Given the description of an element on the screen output the (x, y) to click on. 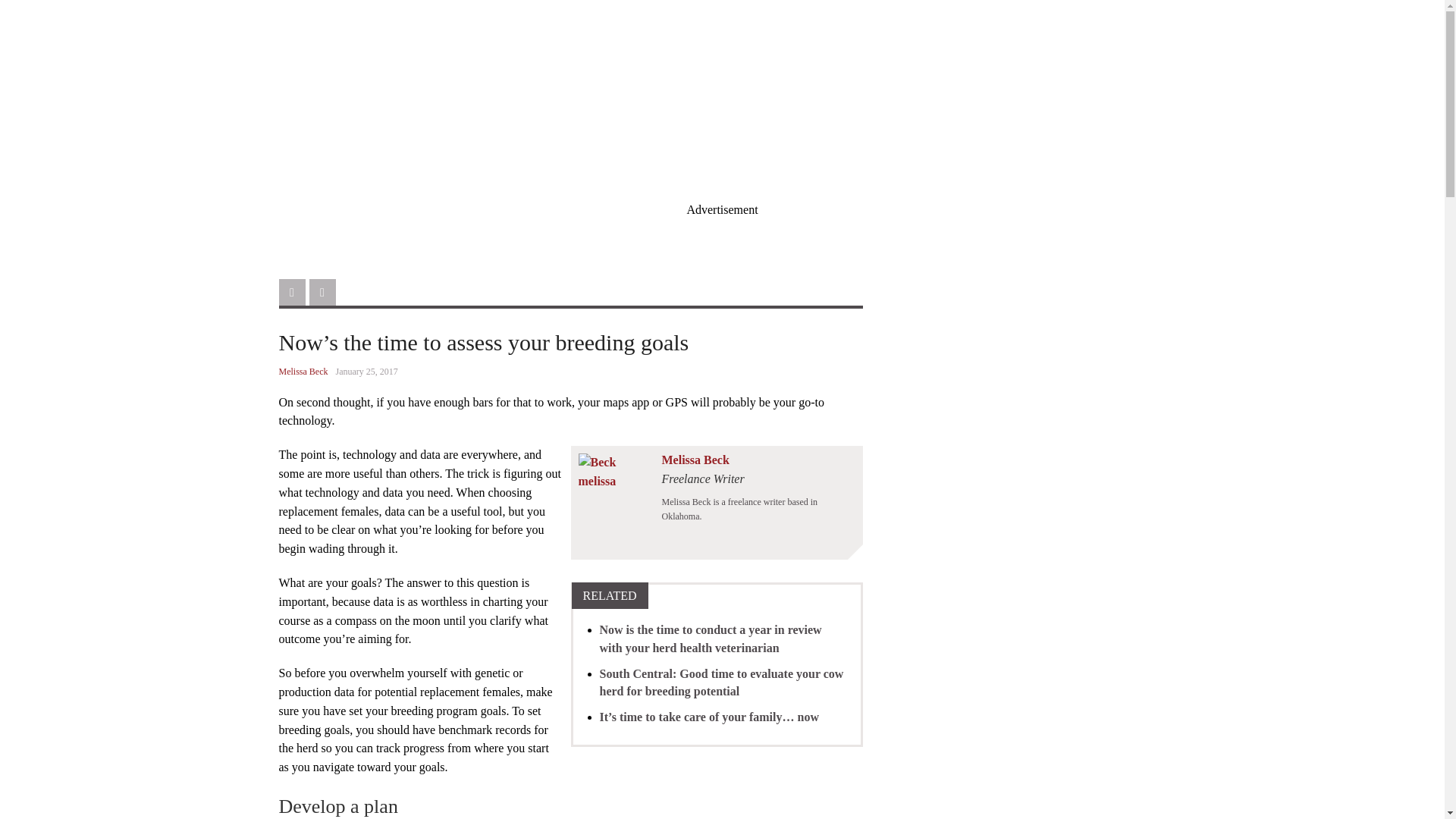
Melissa Beck (304, 371)
Melissa Beck (695, 459)
